Given the description of an element on the screen output the (x, y) to click on. 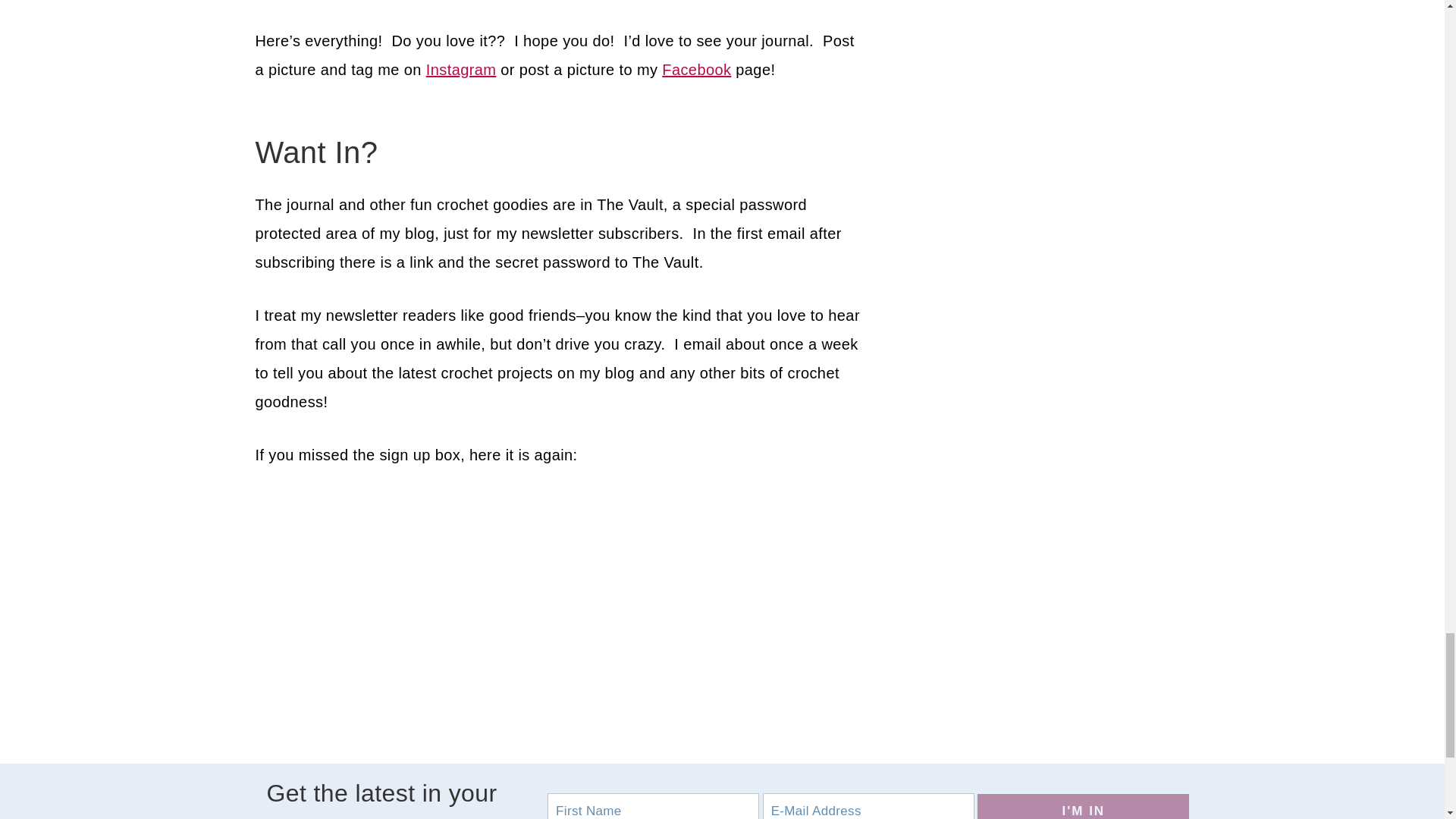
Facebook (696, 69)
I'm in (1082, 806)
Instagram (461, 69)
